Given the description of an element on the screen output the (x, y) to click on. 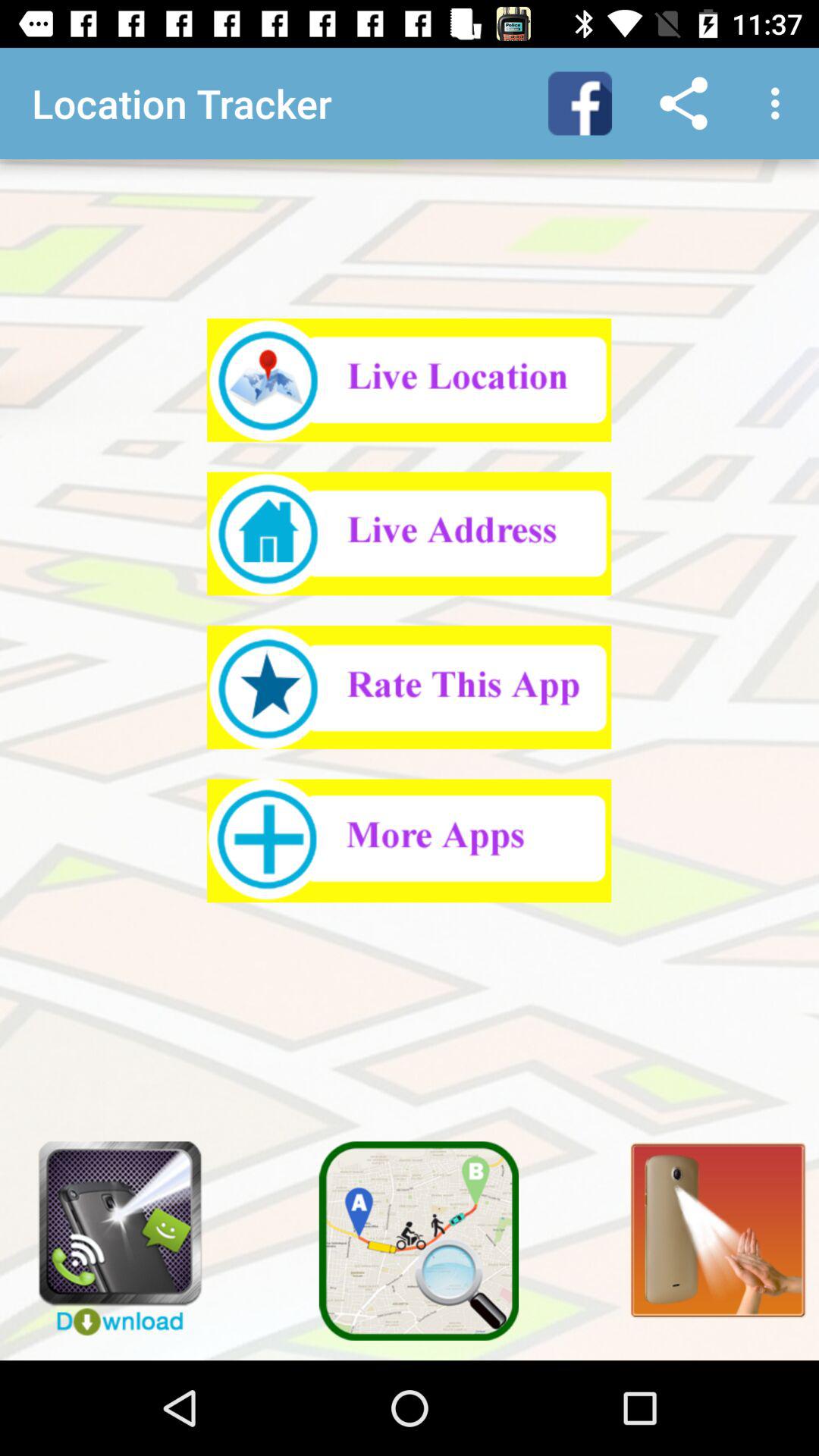
flashlight (708, 1220)
